Given the description of an element on the screen output the (x, y) to click on. 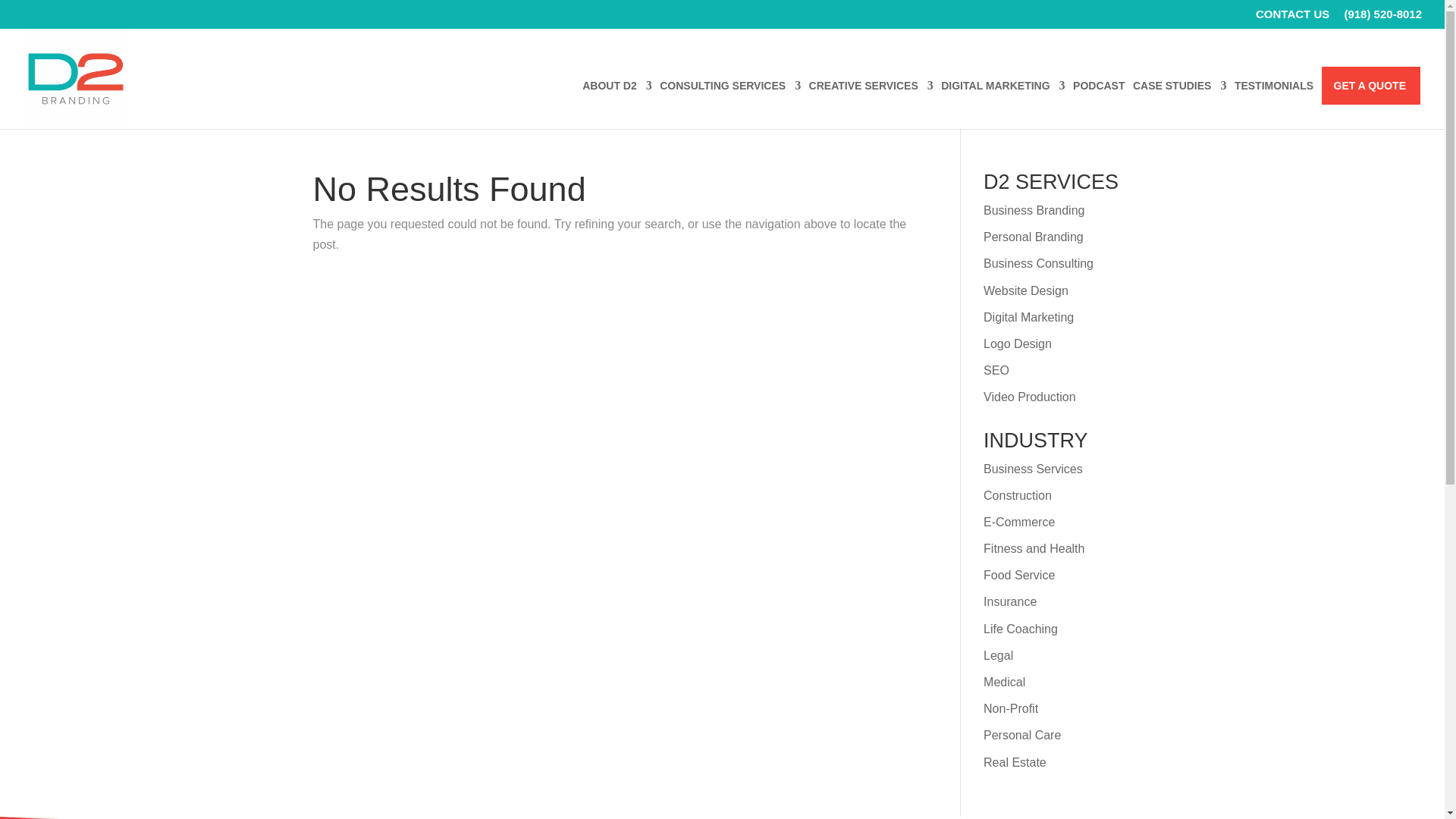
TESTIMONIALS (1273, 104)
ABOUT D2 (617, 104)
CREATIVE SERVICES (871, 104)
DIGITAL MARKETING (1002, 104)
GET A QUOTE from D2 Branding Marketing in Tulsa (1369, 104)
CONTACT US (1292, 17)
GET A QUOTE (1369, 104)
TESTIMONIALS (1273, 104)
CONSULTING SERVICES (729, 104)
CASE STUDIES (1178, 104)
